Given the description of an element on the screen output the (x, y) to click on. 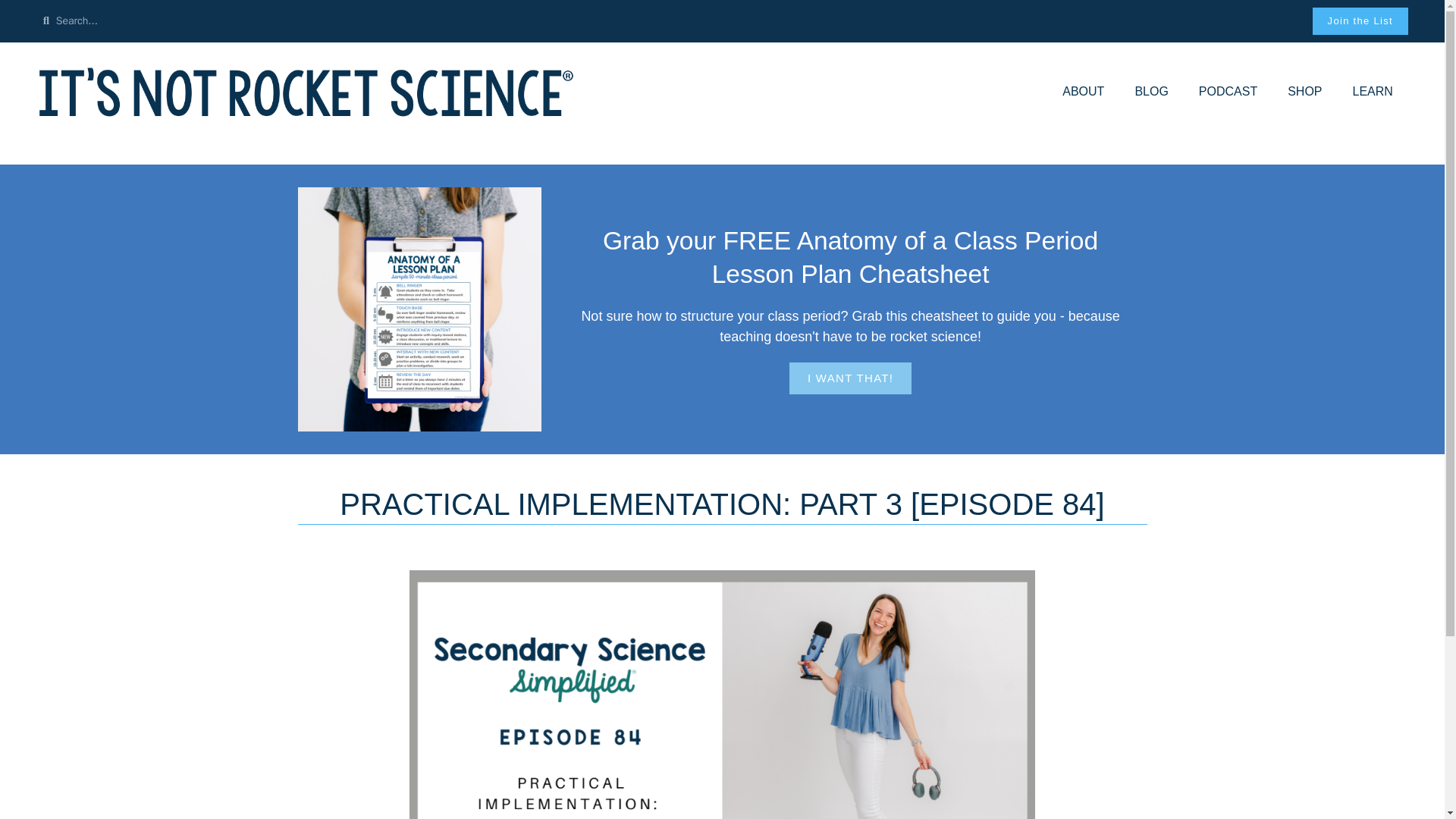
BLOG (1150, 91)
I WANT THAT! (850, 377)
SHOP (1304, 91)
ABOUT (1082, 91)
LEARN (1372, 91)
PODCAST (1227, 91)
Join the List (1360, 21)
